Given the description of an element on the screen output the (x, y) to click on. 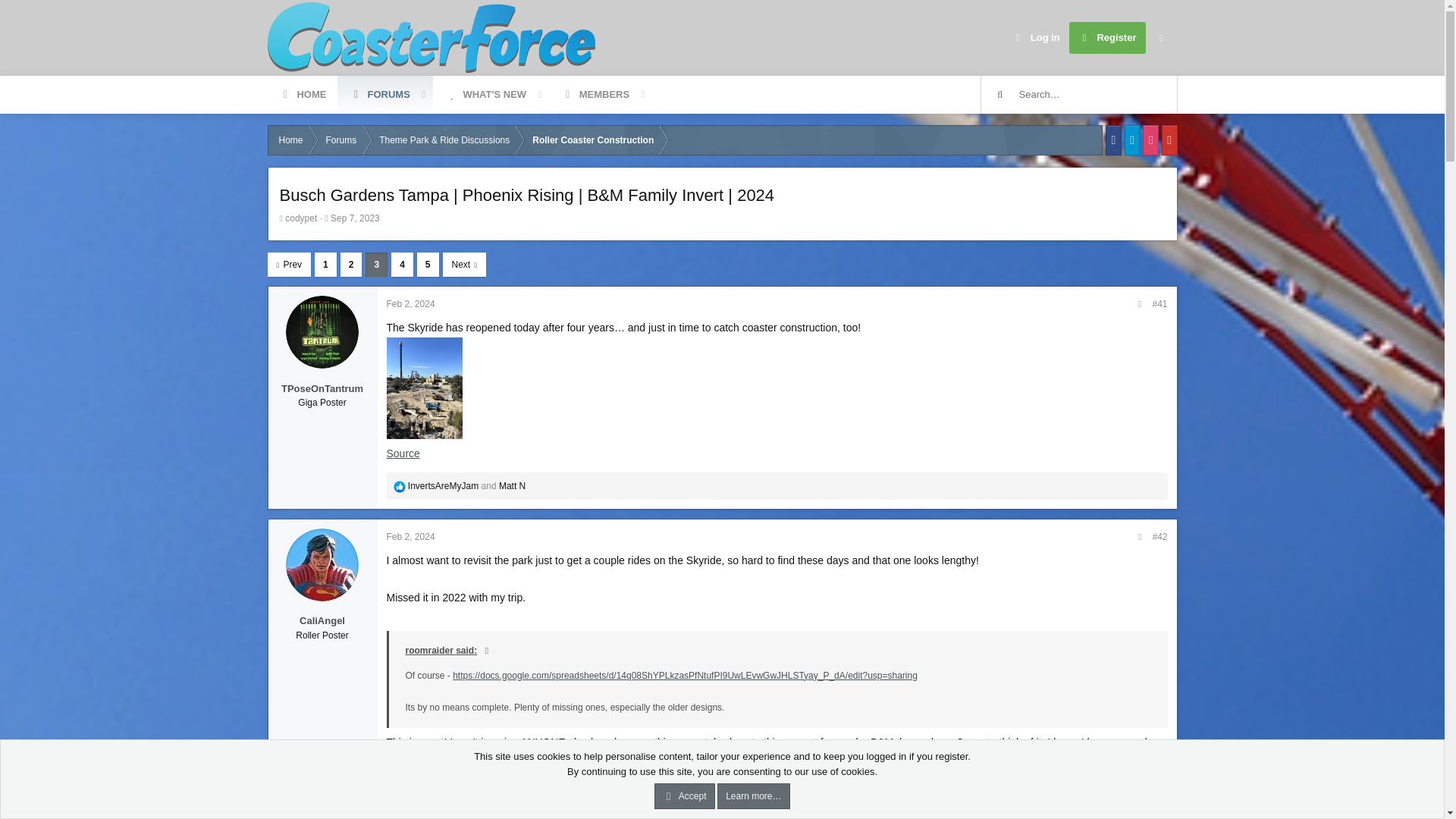
HOME (301, 94)
Like (398, 486)
Feb 2, 2024 at 4:42 PM (411, 303)
Forums (341, 140)
WHAT'S NEW (484, 94)
710753A3-91C4-497C-A91D-63BD3074004C.jpeg (425, 387)
Feb 26, 2024 at 9:11 PM (414, 807)
FORUMS (459, 94)
Log in (378, 94)
MEMBERS (1035, 38)
Feb 2, 2024 at 5:33 PM (595, 94)
Home (411, 535)
